Given the description of an element on the screen output the (x, y) to click on. 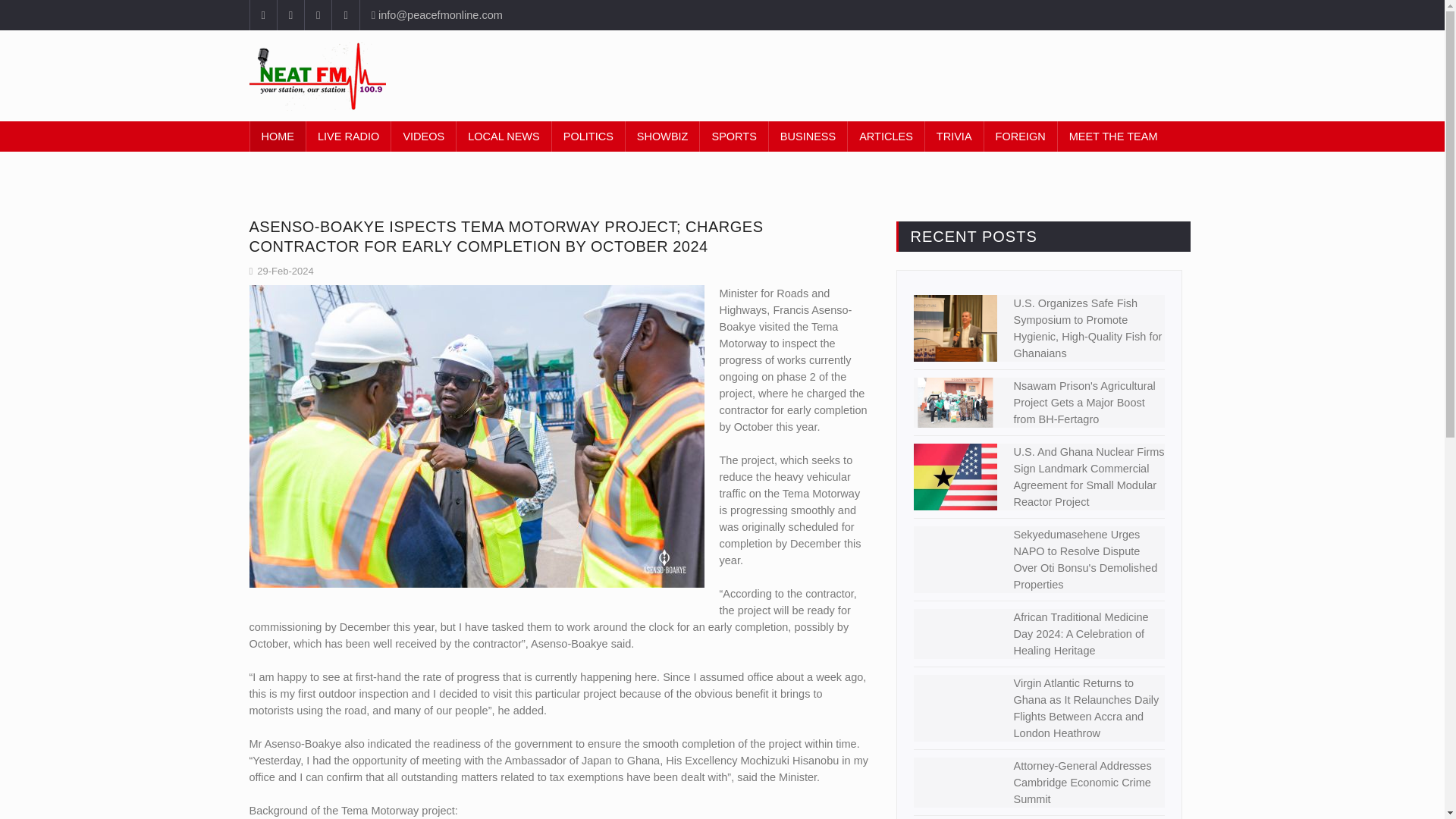
BUSINESS (807, 136)
HOME (277, 136)
VIDEOS (423, 136)
MEET THE TEAM (1113, 136)
FOREIGN (1020, 136)
TRIVIA (954, 136)
